Given the description of an element on the screen output the (x, y) to click on. 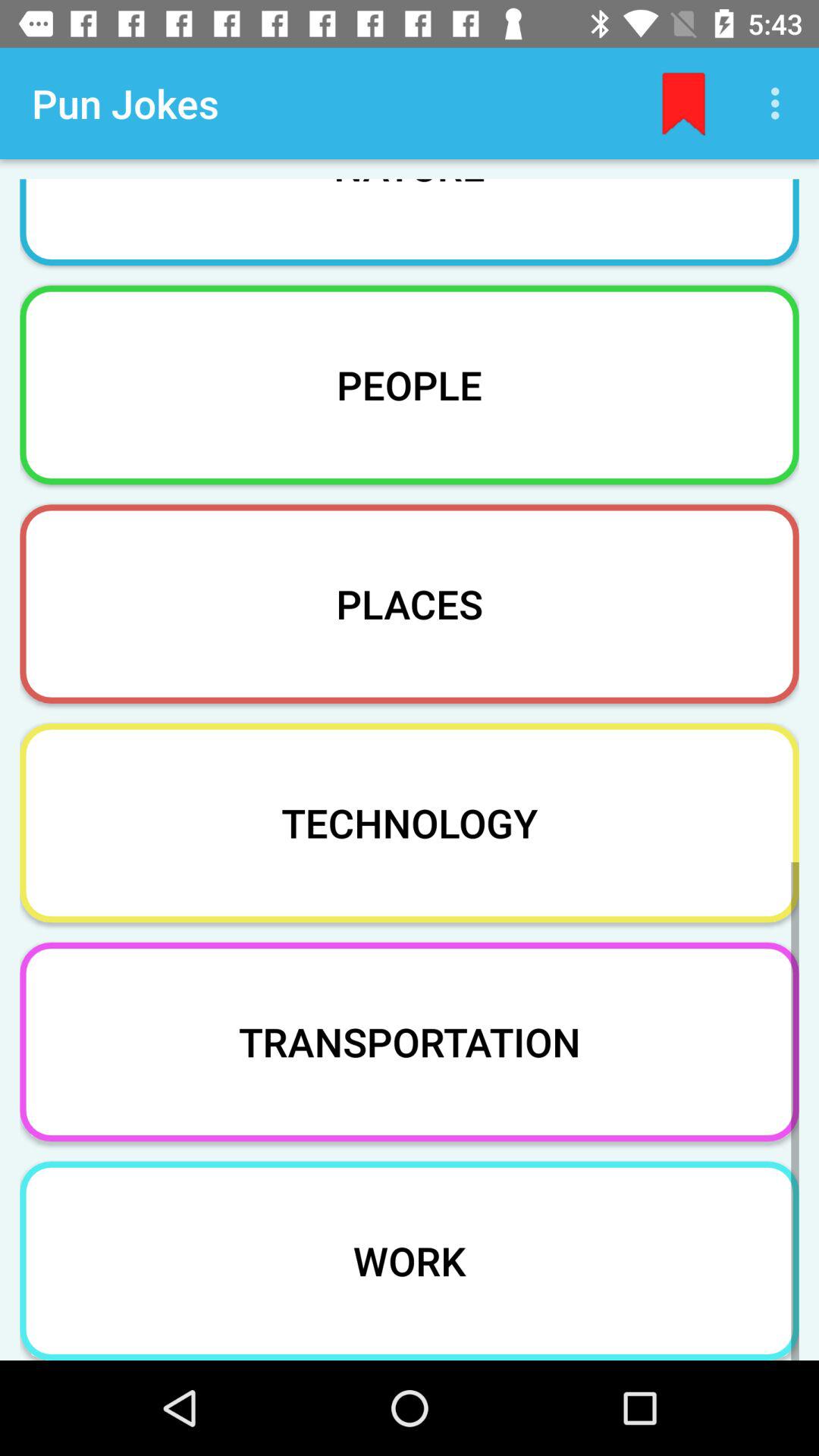
launch the icon below places icon (409, 822)
